Given the description of an element on the screen output the (x, y) to click on. 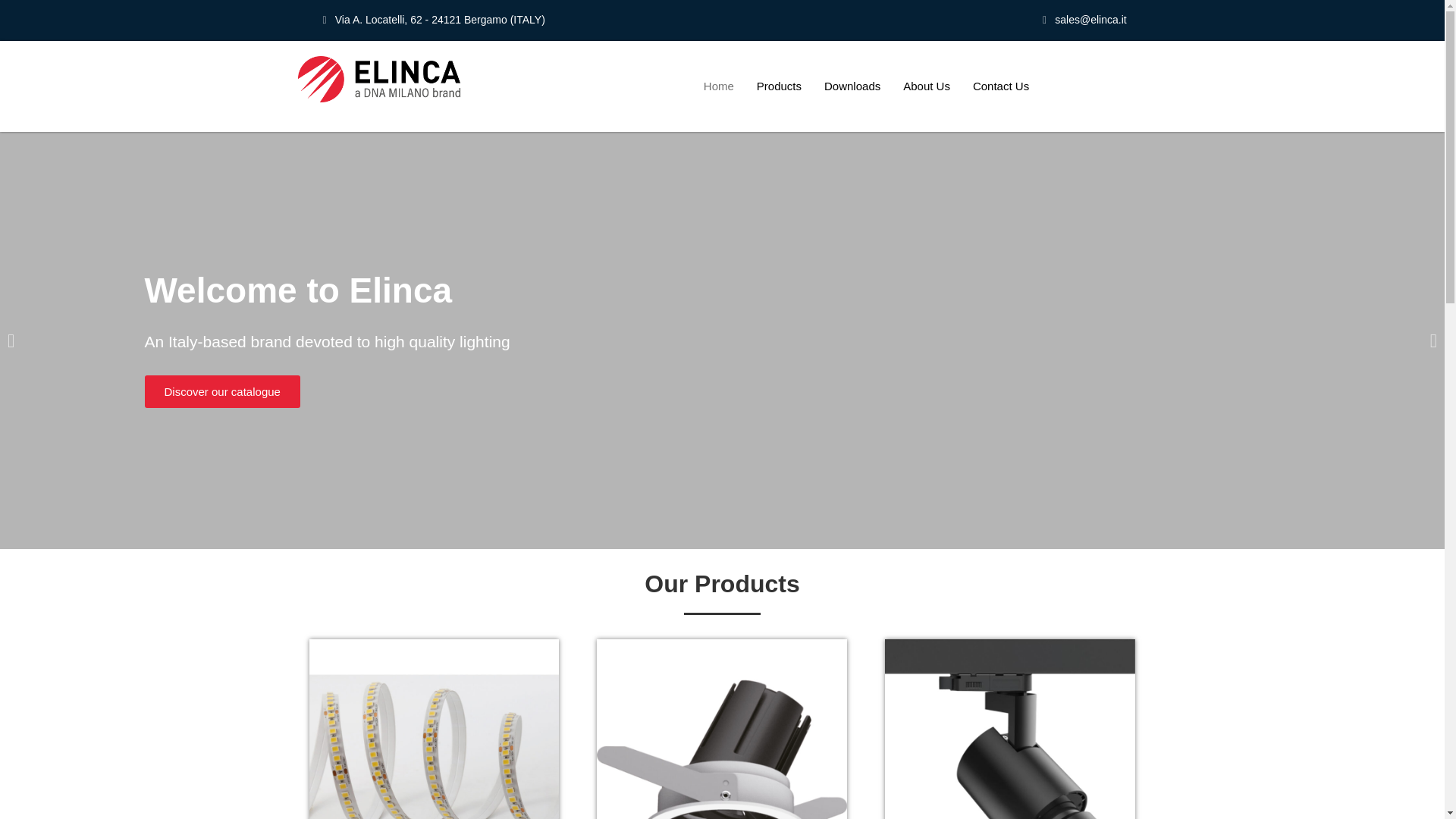
Downloads (851, 86)
Products (778, 86)
Contact Us (1000, 86)
About Us (925, 86)
ElincaLogo (379, 79)
